Given the description of an element on the screen output the (x, y) to click on. 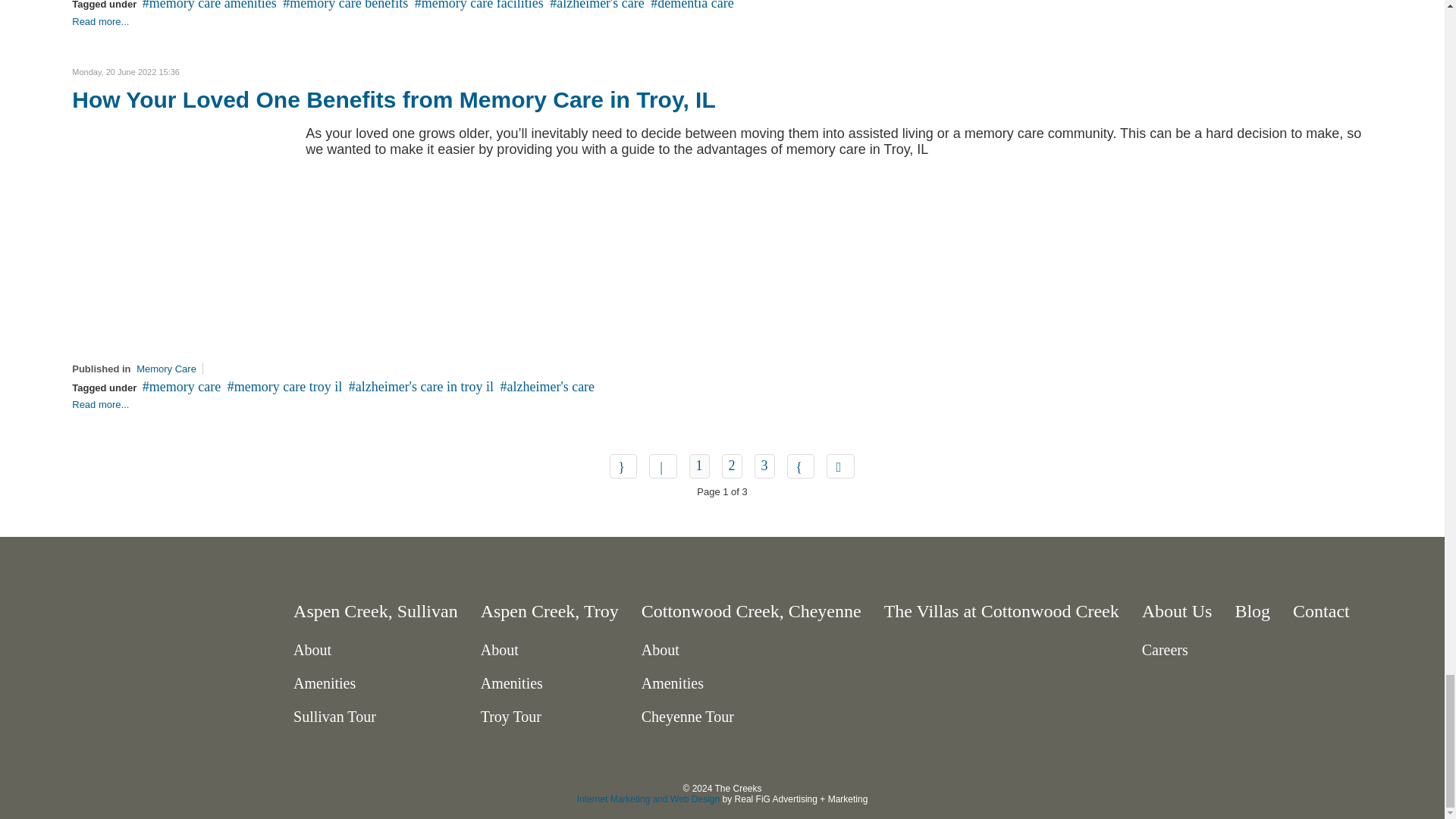
End (840, 466)
Next (801, 466)
How Your Loved One Benefits from Memory Care in Troy, IL (185, 235)
